Given the description of an element on the screen output the (x, y) to click on. 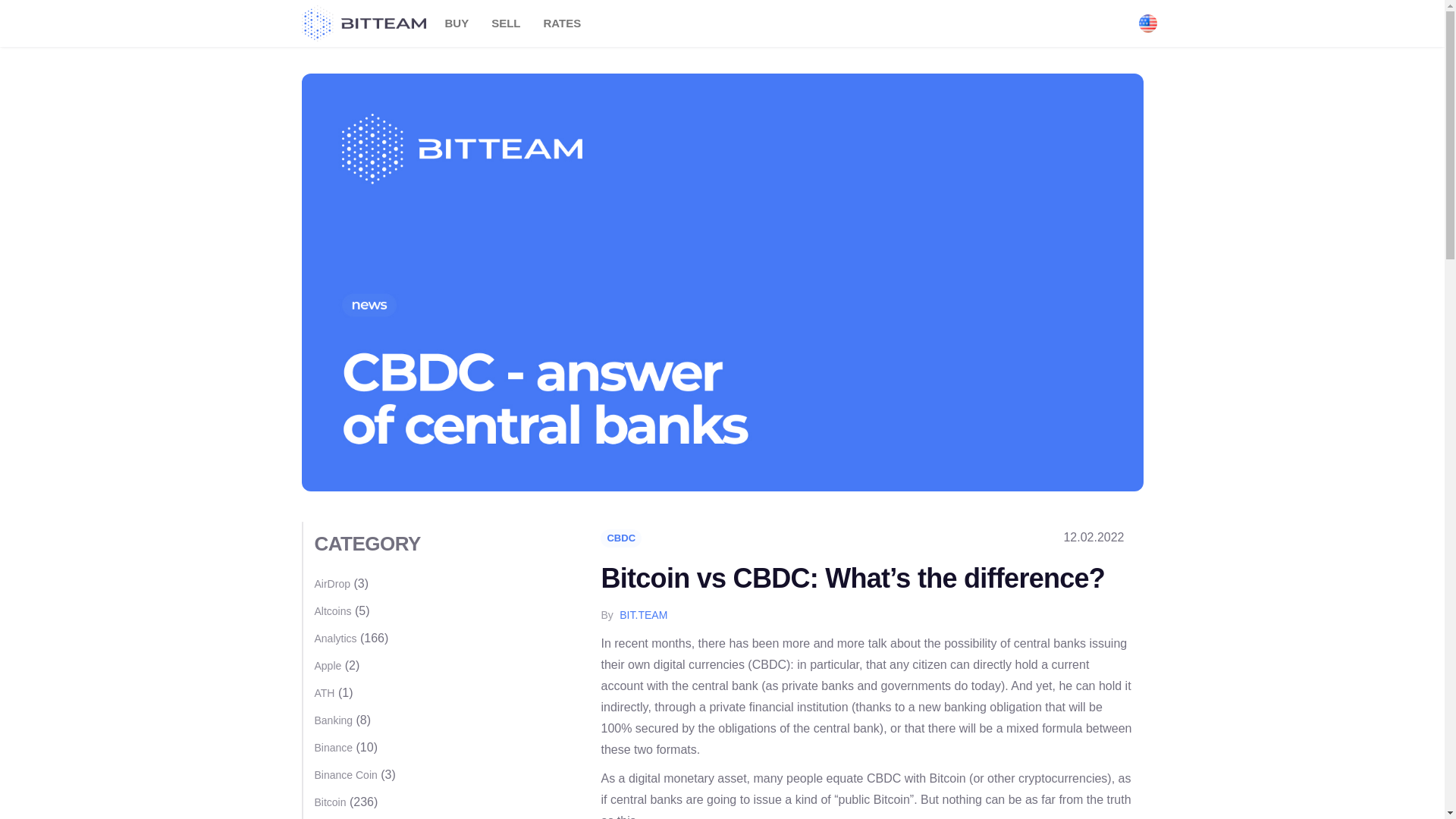
Rates (562, 22)
Binance Coin (345, 775)
AirDrop (331, 583)
Bitcoin (330, 802)
BIT.TEAM (643, 614)
ATH (324, 693)
Altcoins (332, 611)
BUY (456, 22)
Buy (456, 22)
Analytics (335, 638)
Sell (505, 22)
Banking (333, 720)
Apple (327, 665)
CBDC (620, 538)
SELL (505, 22)
